Given the description of an element on the screen output the (x, y) to click on. 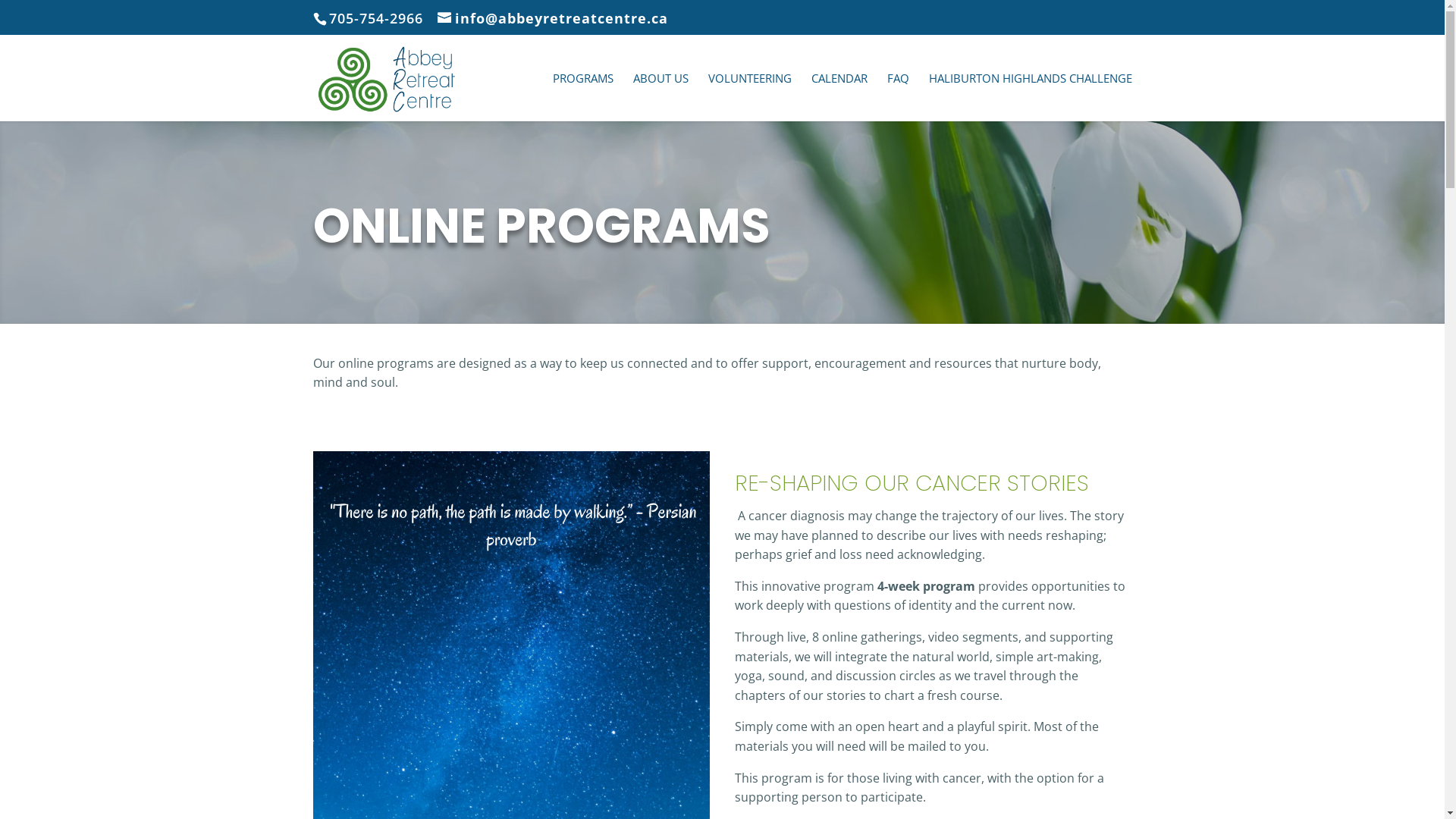
FAQ Element type: text (898, 96)
VOLUNTEERING Element type: text (749, 96)
ABOUT US Element type: text (659, 96)
CALENDAR Element type: text (839, 96)
RE-SHAPING OUR CANCER STORIES Element type: text (911, 482)
PROGRAMS Element type: text (582, 96)
info@abbeyretreatcentre.ca Element type: text (551, 18)
HALIBURTON HIGHLANDS CHALLENGE Element type: text (1029, 96)
